Given the description of an element on the screen output the (x, y) to click on. 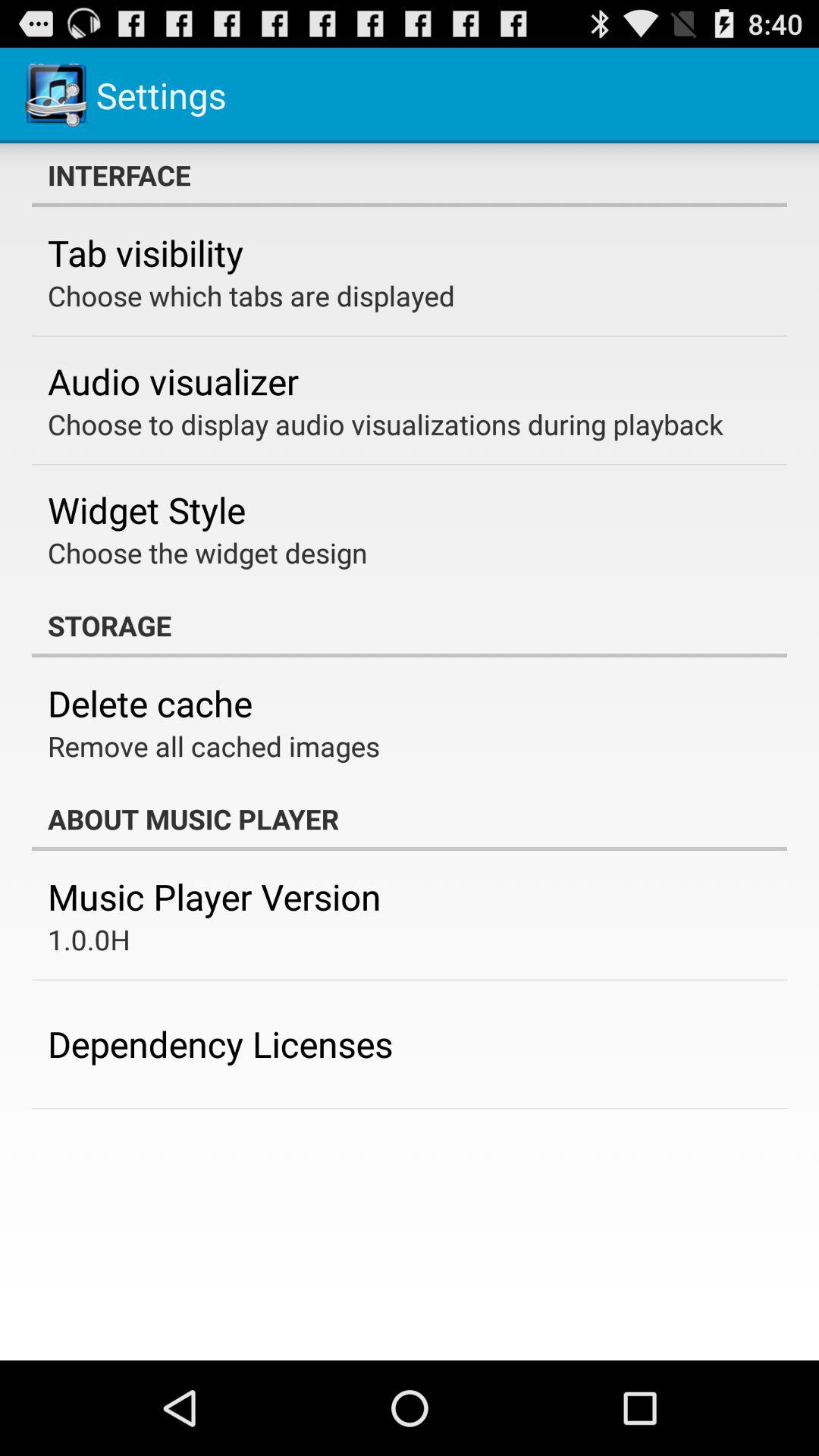
tap widget style item (146, 509)
